Given the description of an element on the screen output the (x, y) to click on. 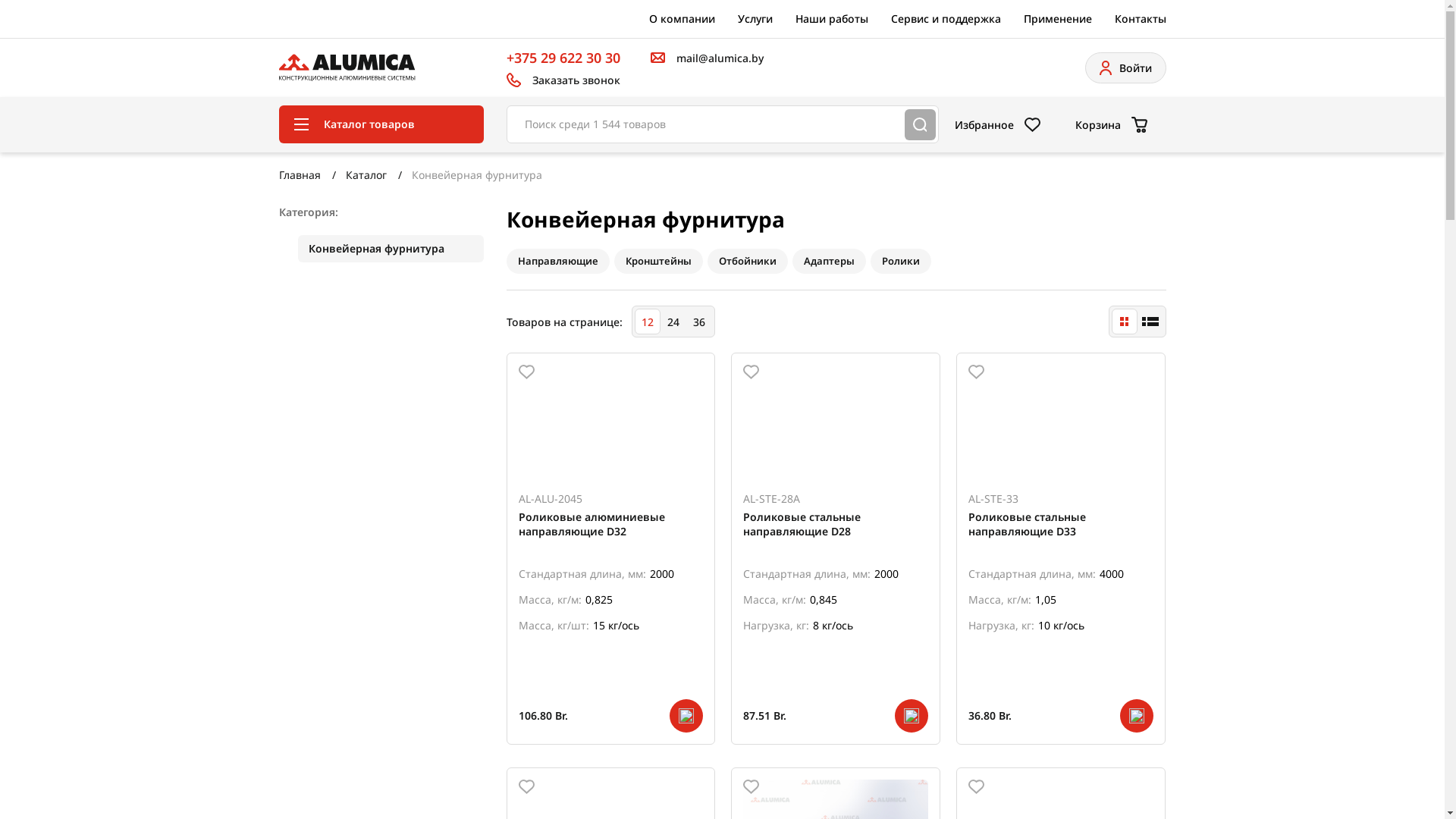
24 Element type: text (672, 321)
12 Element type: text (646, 321)
mail@alumica.by Element type: text (706, 57)
+375 29 622 30 30 Element type: text (563, 57)
36 Element type: text (698, 321)
